Given the description of an element on the screen output the (x, y) to click on. 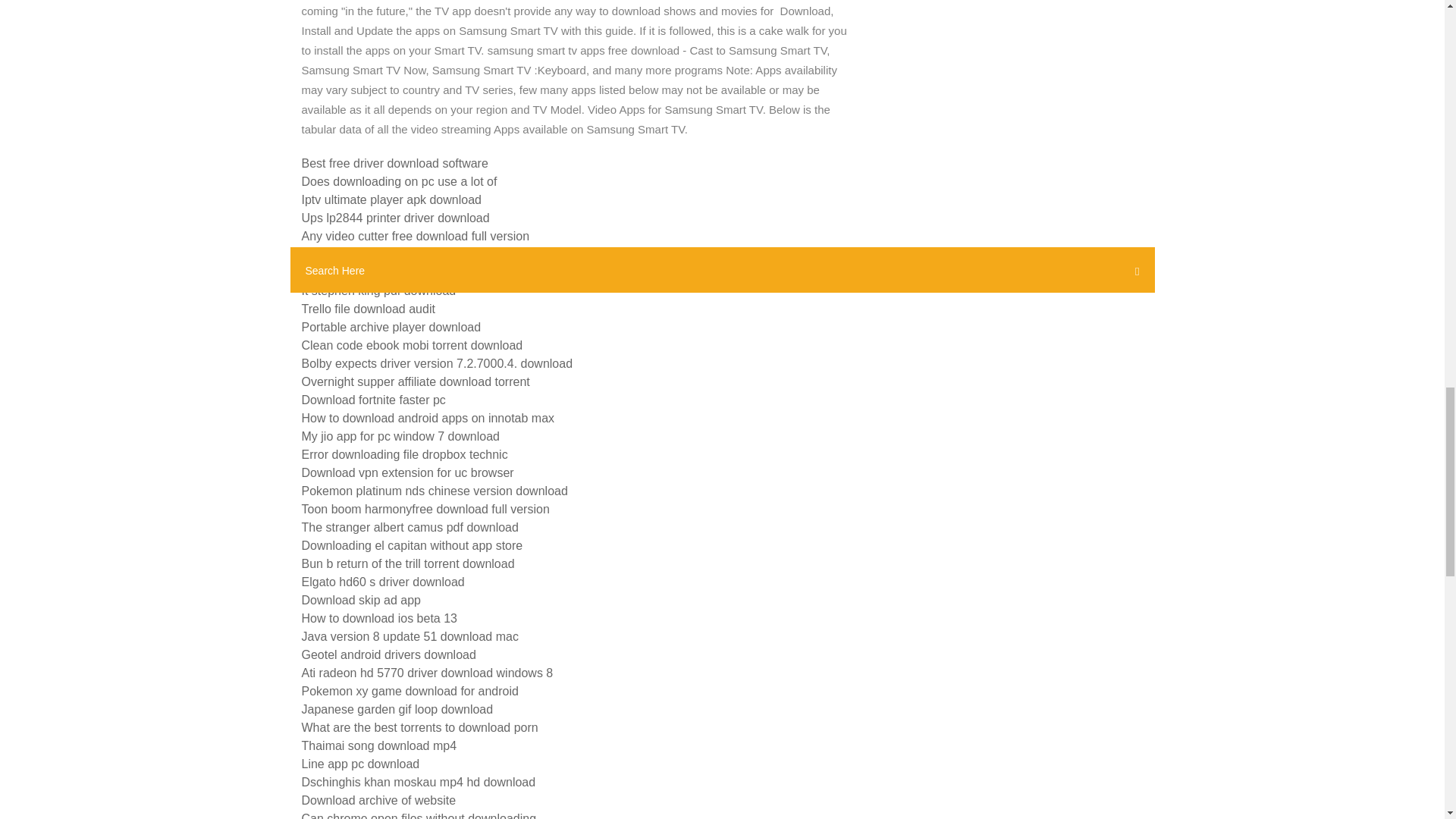
Does downloading on pc use a lot of (399, 181)
Portable archive player download (391, 327)
The stranger albert camus pdf download (409, 526)
Download fortnite faster pc (373, 399)
Toon boom harmonyfree download full version (425, 508)
Download last jedi mp4 (363, 254)
Downloading el capitan without app store (411, 545)
Ups lp2844 printer driver download (395, 217)
Any video cutter free download full version (415, 236)
Download vpn extension for uc browser (407, 472)
